Given the description of an element on the screen output the (x, y) to click on. 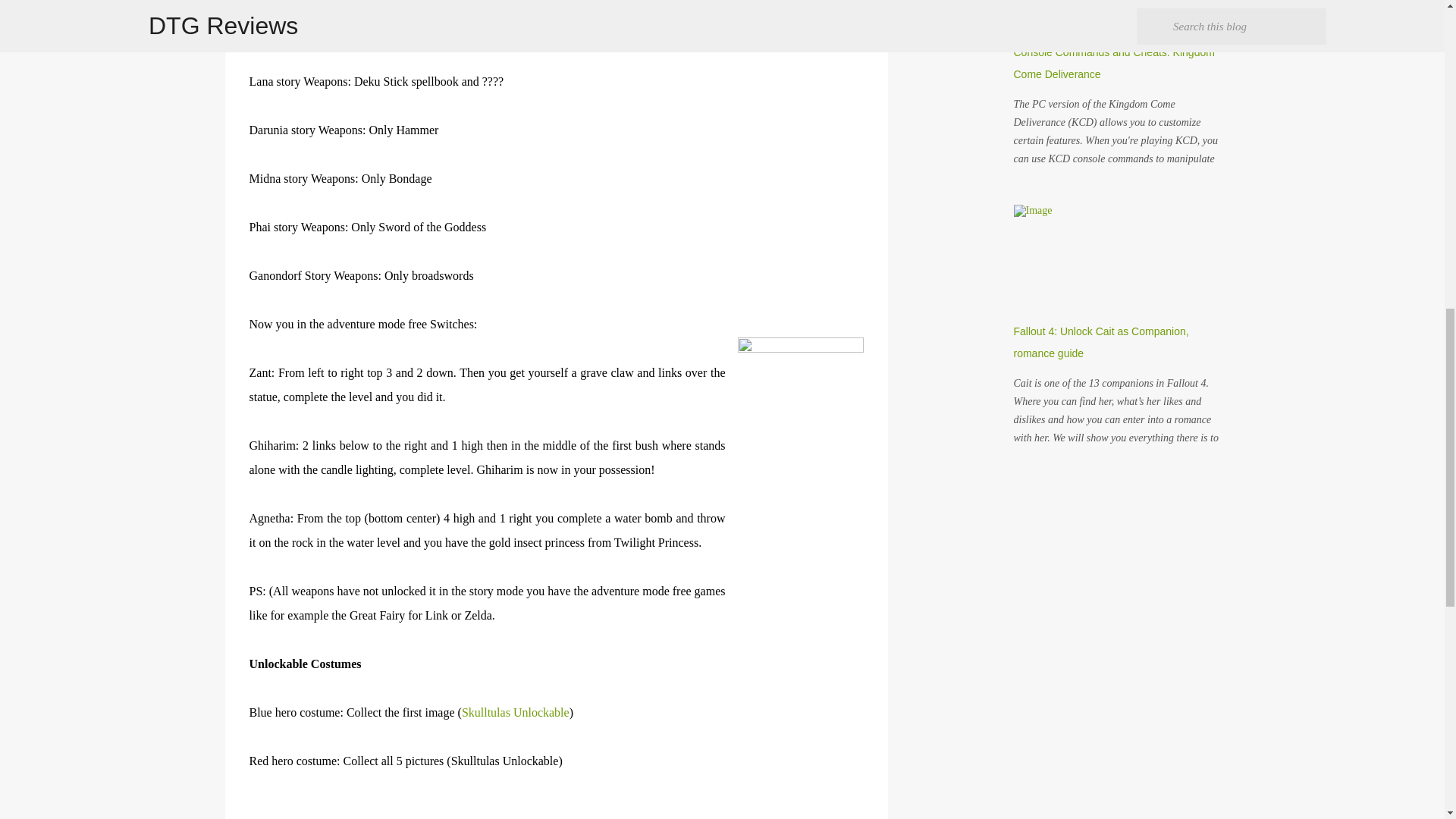
Fallout 4: Unlock Cait as Companion, romance guide (1100, 342)
Skulltulas Unlockable (515, 712)
Console Commands and Cheats: Kingdom Come Deliverance (1113, 62)
